Given the description of an element on the screen output the (x, y) to click on. 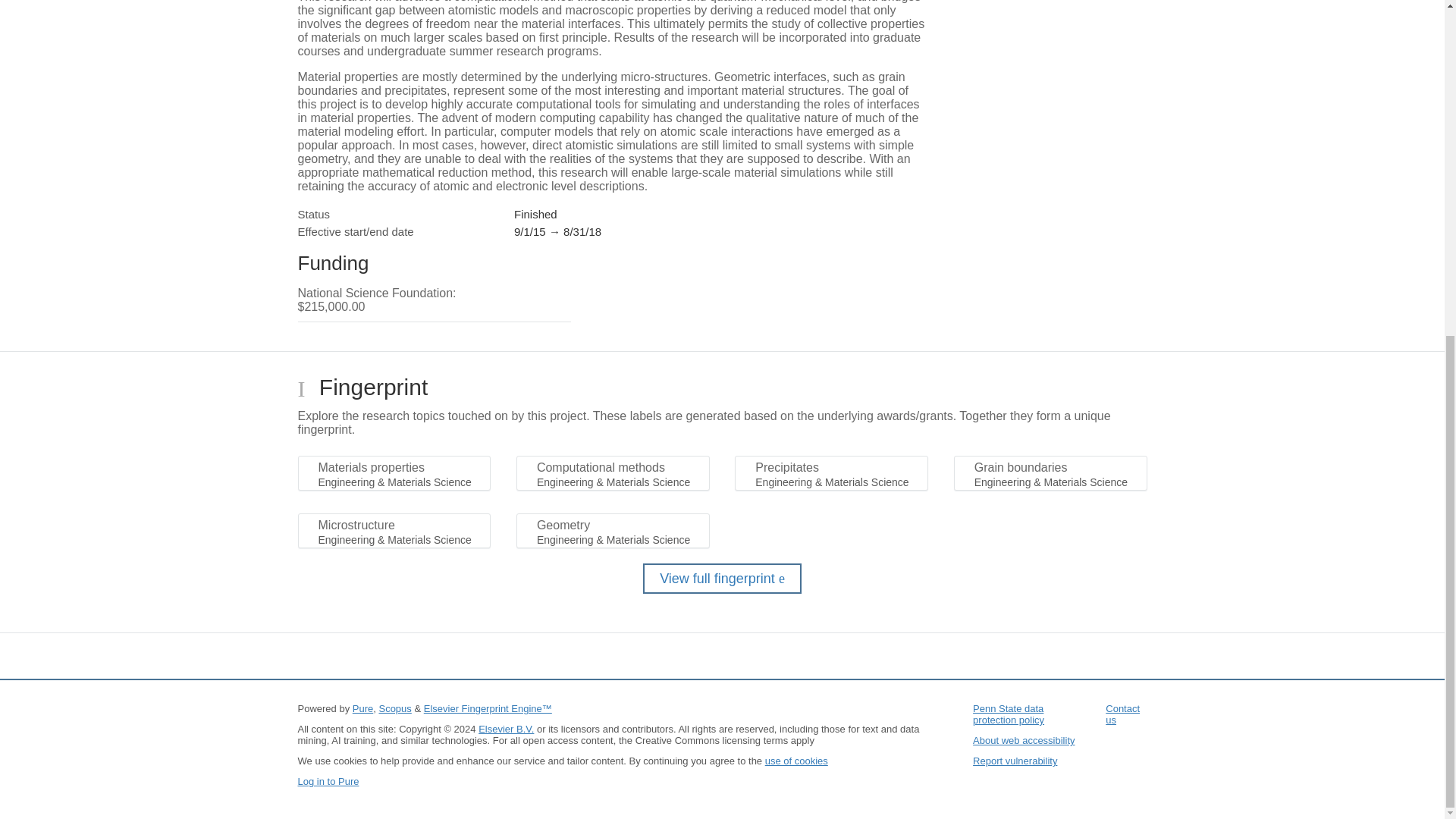
use of cookies (796, 760)
Log in to Pure (327, 781)
Scopus (394, 708)
Pure (362, 708)
View full fingerprint (722, 578)
Elsevier B.V. (506, 728)
About web accessibility (1023, 740)
Penn State data protection policy (1007, 713)
